Given the description of an element on the screen output the (x, y) to click on. 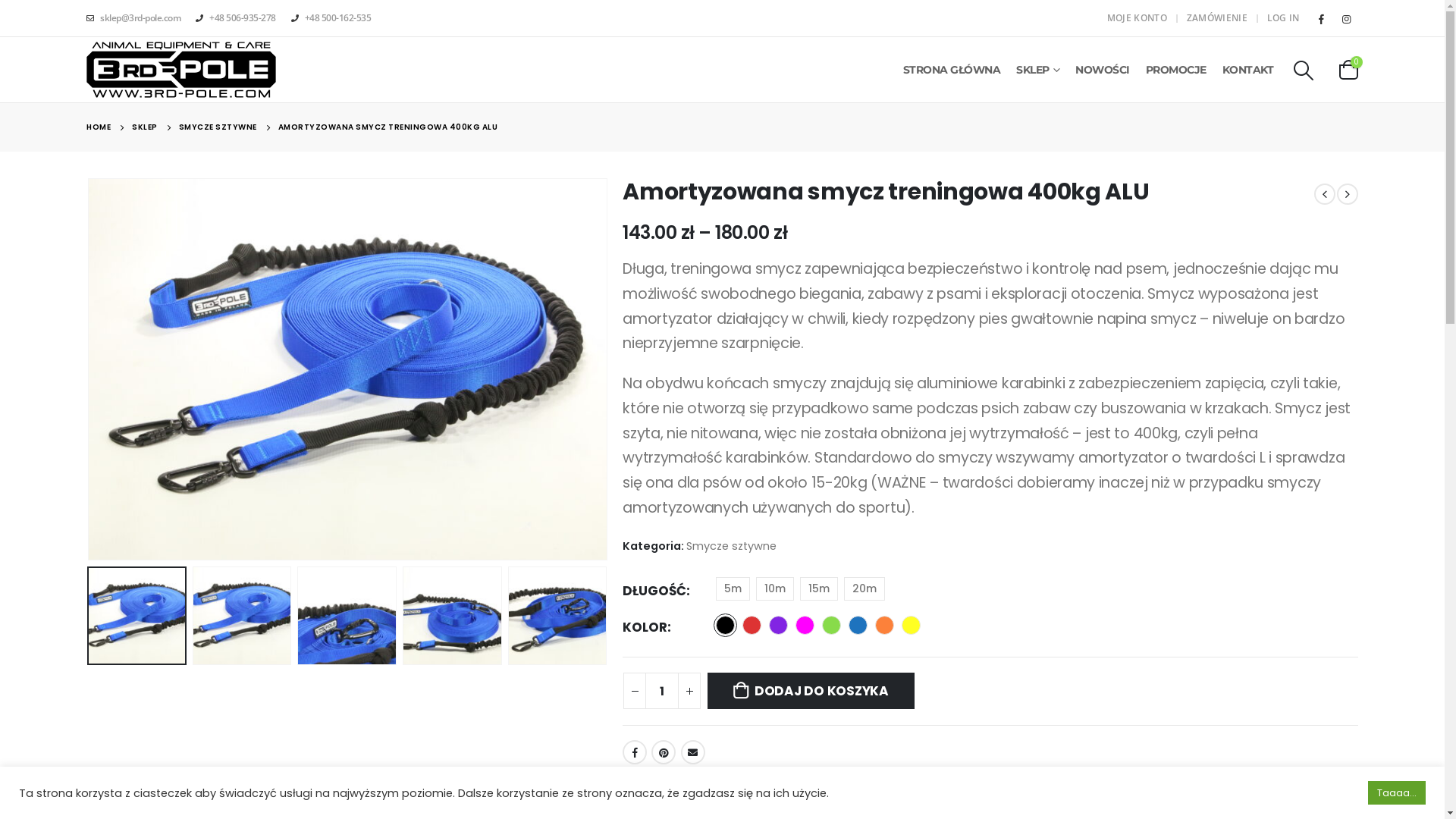
Pinterest Element type: text (663, 752)
SKLEP Element type: text (1037, 69)
SKLEP Element type: text (144, 127)
3RD-POLE - 3RD-POLE Element type: hover (181, 69)
sklep@3rd-pole.com Element type: text (137, 17)
+48 500-162-535 Element type: text (331, 17)
Limonkowy Element type: text (831, 624)
Smycze sztywne Element type: text (731, 545)
PROMOCJE Element type: text (1176, 69)
10m Element type: text (774, 588)
Niebieski Element type: text (857, 624)
LOG IN Element type: text (1281, 18)
15m Element type: text (818, 588)
20m Element type: text (864, 588)
SMYCZE SZTYWNE Element type: text (217, 127)
Email Element type: text (692, 752)
Fioletowy Element type: text (777, 624)
1639206929355 Element type: hover (347, 368)
MOJE KONTO Element type: text (1138, 18)
Czerwony Element type: text (751, 624)
DODAJ DO KOSZYKA Element type: text (810, 690)
Taaaa... Element type: text (1396, 792)
Facebook Element type: text (634, 752)
Instagram Element type: hover (1346, 18)
Fuksja Element type: text (804, 624)
Czarny Element type: text (724, 624)
HOME Element type: text (98, 127)
KONTAKT Element type: text (1247, 69)
+ Element type: text (688, 690)
- Element type: text (634, 690)
Facebook Element type: hover (1321, 18)
+48 506-935-278 Element type: text (235, 17)
5m Element type: text (732, 588)
